Given the description of an element on the screen output the (x, y) to click on. 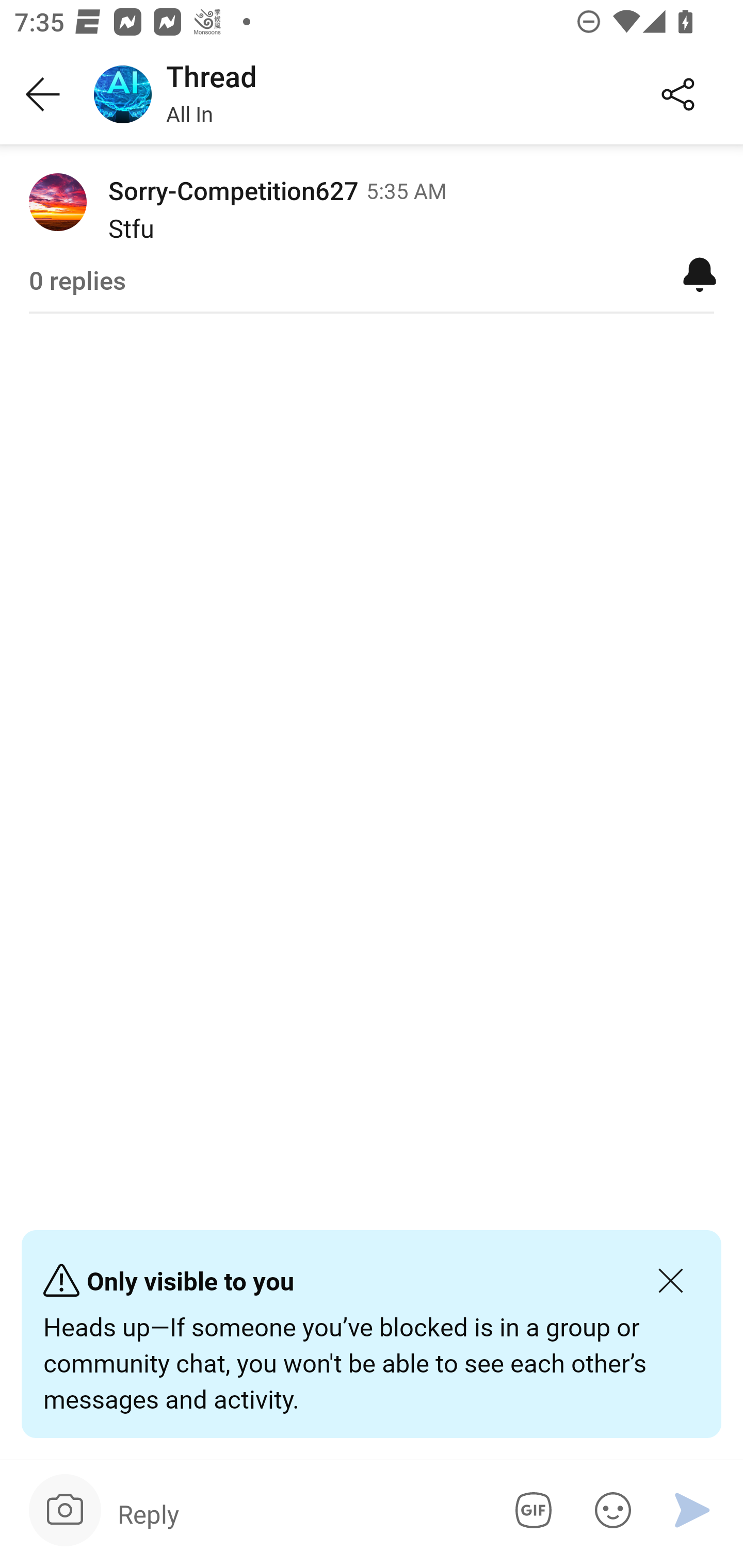
Back (43, 94)
Share (677, 94)
Mute (699, 273)
Upload image (64, 1510)
Add GIF (529, 1510)
Add sticker (609, 1510)
Send message (692, 1510)
Message Reply (298, 1513)
